Given the description of an element on the screen output the (x, y) to click on. 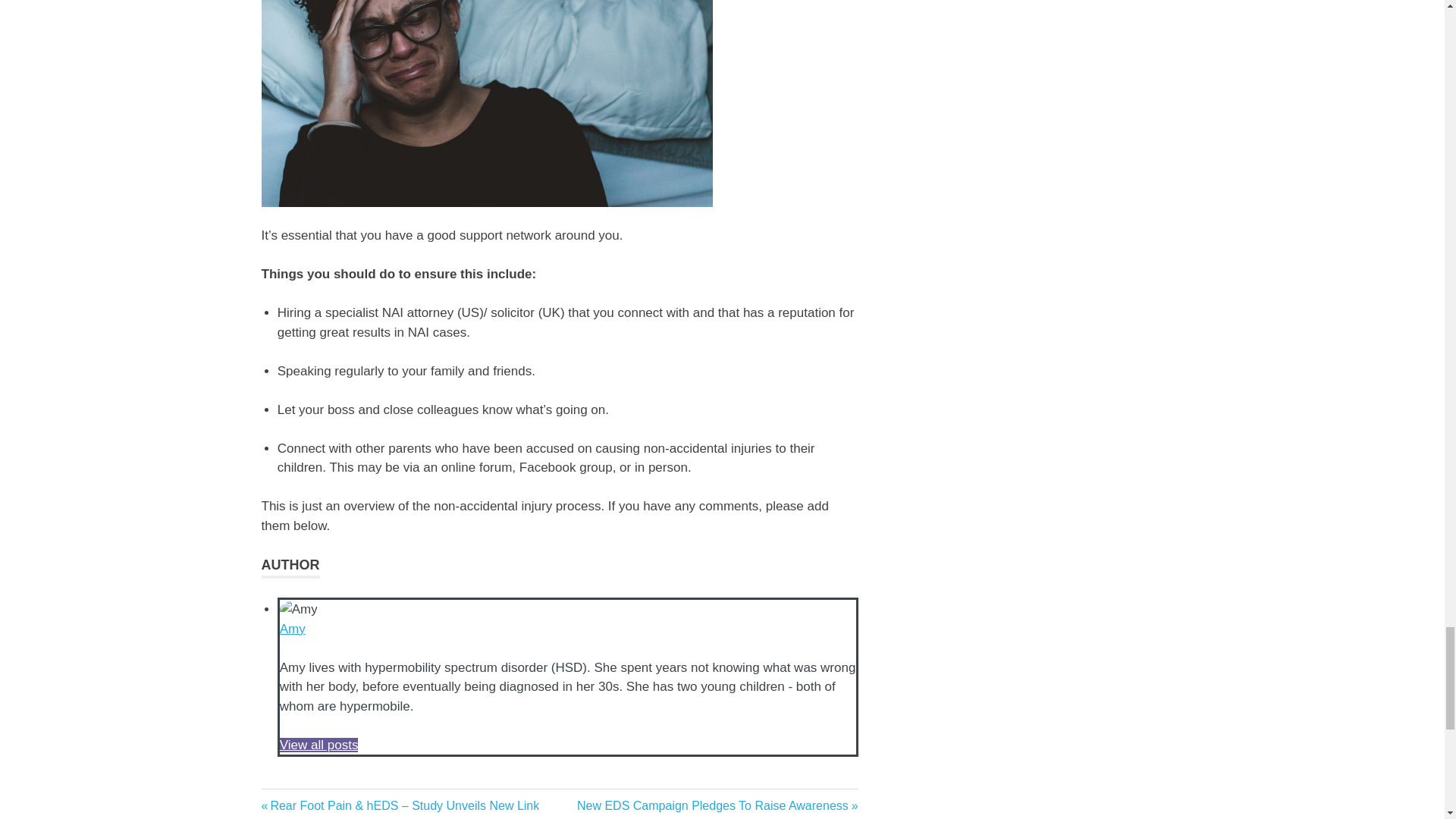
View all posts (318, 744)
Amy (292, 628)
View all posts (318, 744)
EDS (277, 798)
Amy (292, 628)
